Given the description of an element on the screen output the (x, y) to click on. 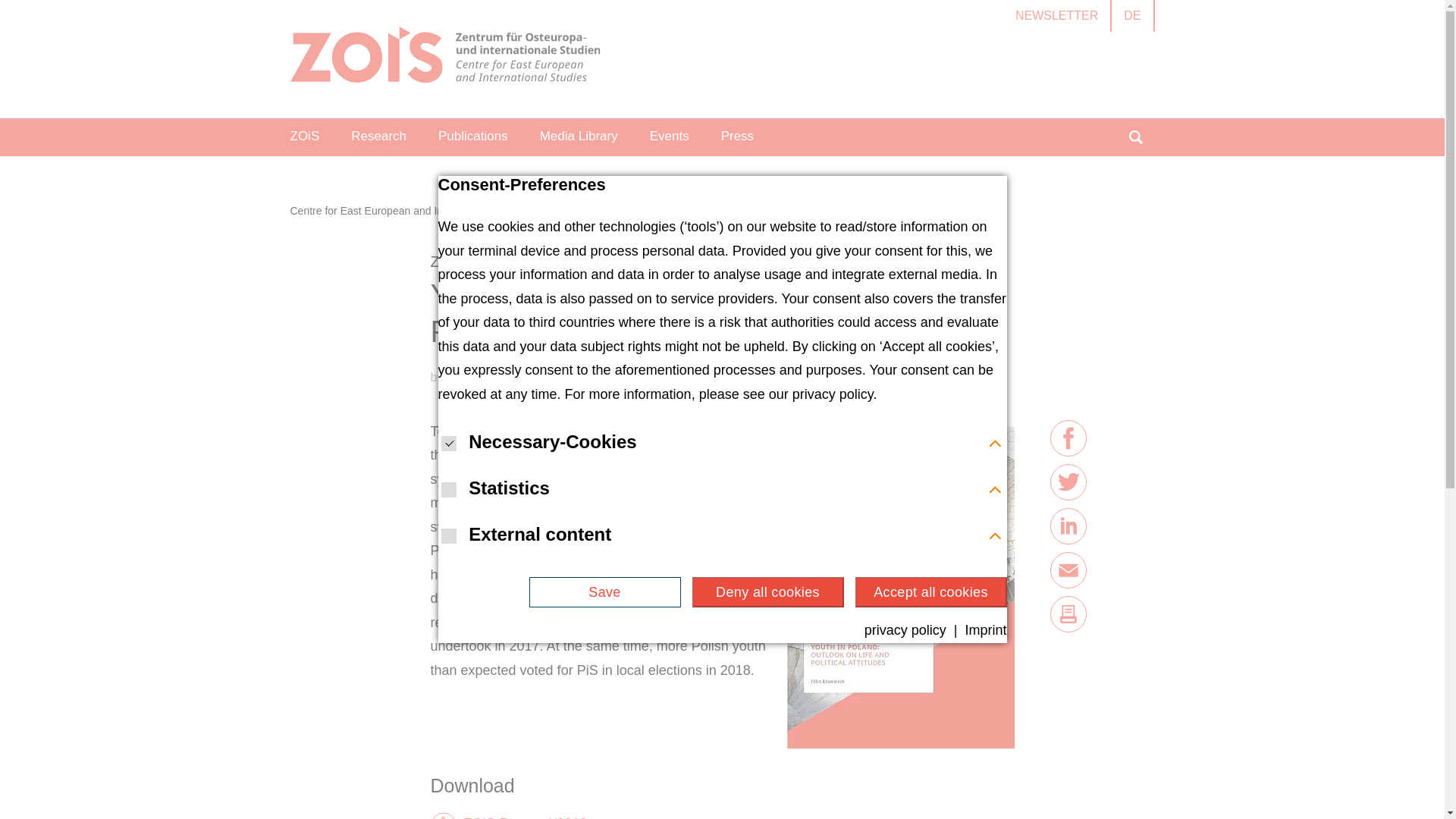
NEWSLETTER (1056, 15)
ZOiS (305, 136)
Page 1 Created with Sketch. (444, 54)
Page 1 Created with Sketch. (444, 58)
DE (1132, 15)
